Given the description of an element on the screen output the (x, y) to click on. 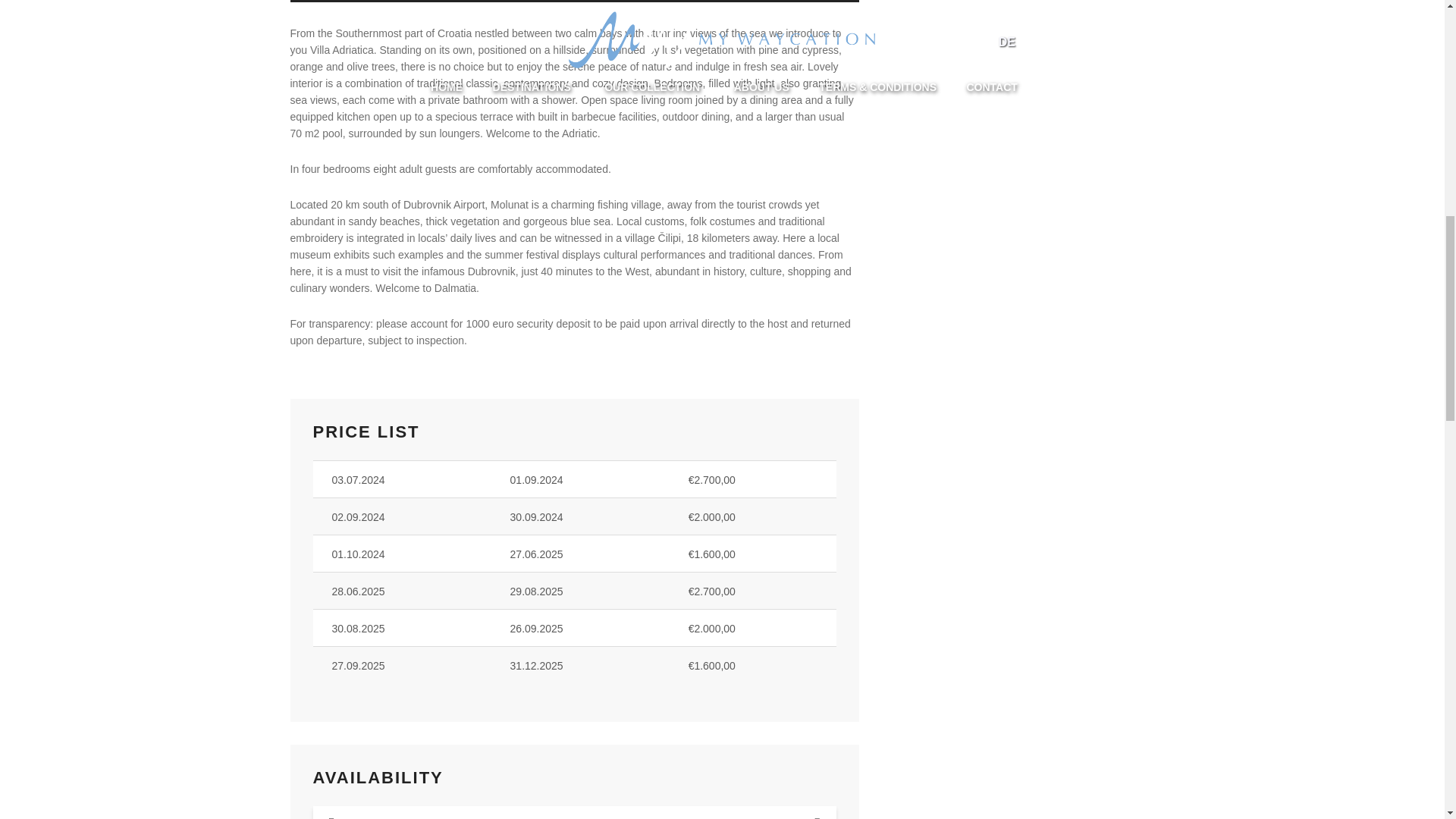
Next (817, 816)
Prev (330, 816)
